Given the description of an element on the screen output the (x, y) to click on. 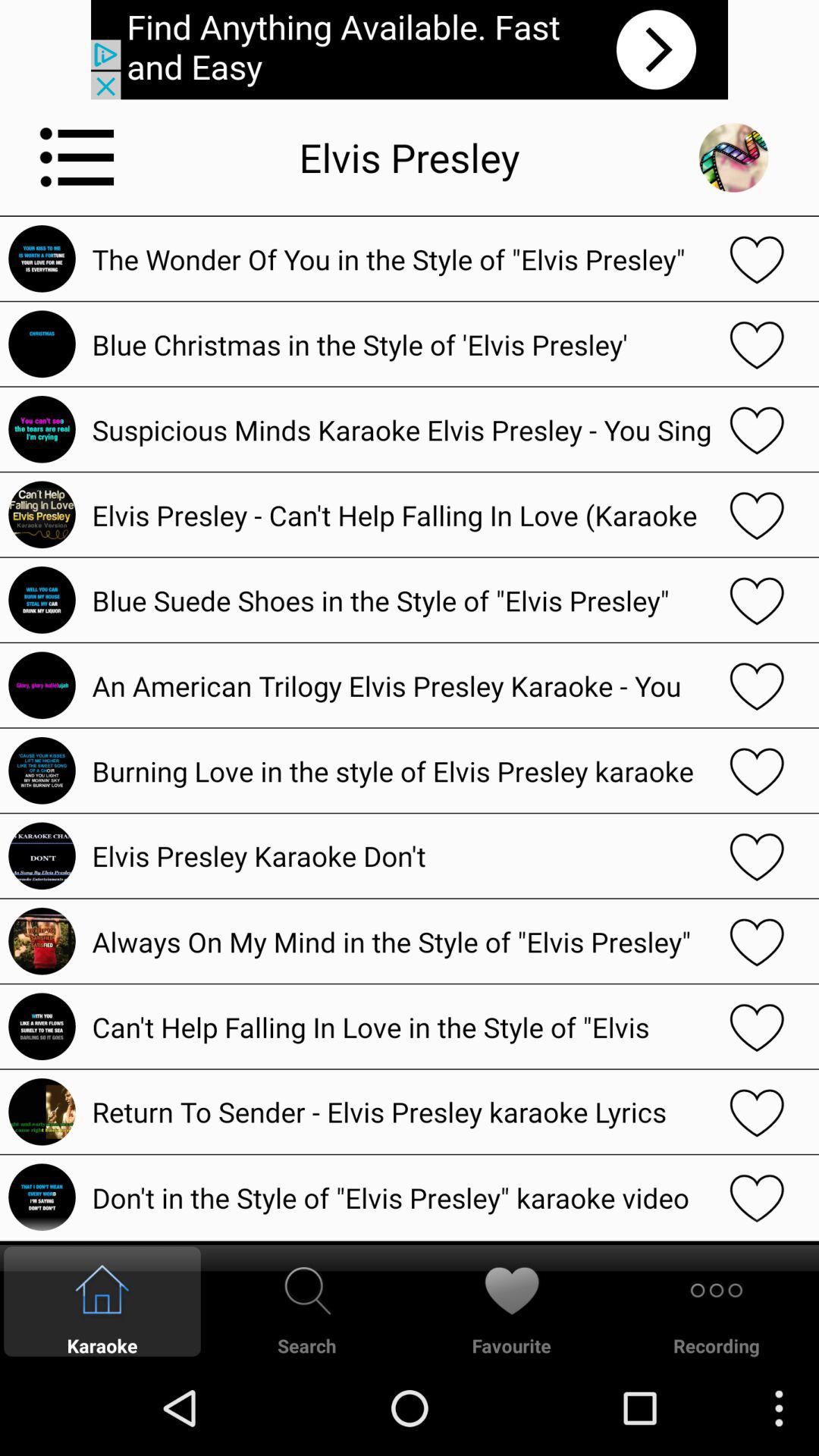
favorite song (756, 1111)
